Given the description of an element on the screen output the (x, y) to click on. 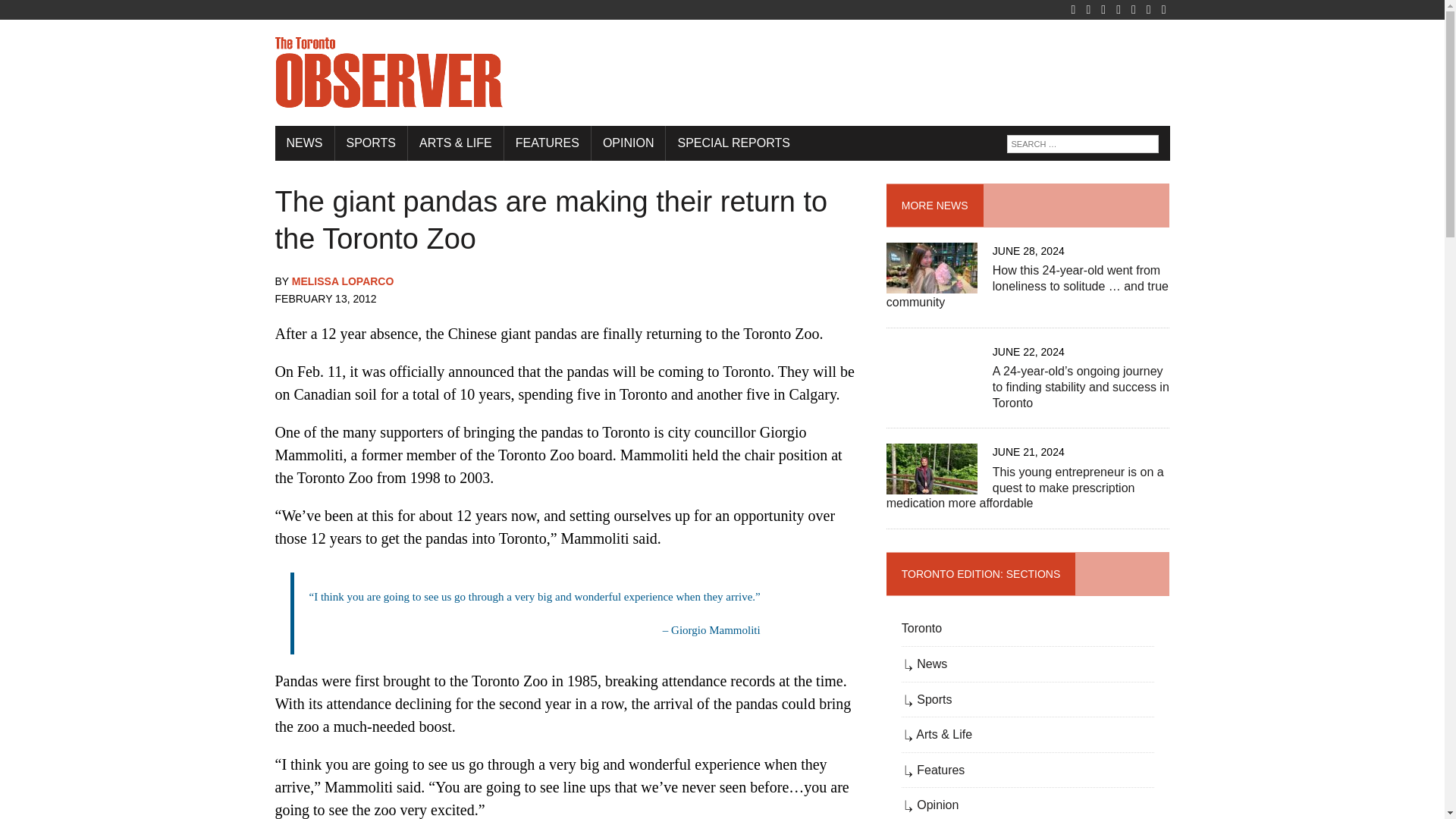
Melissa LoParco (343, 281)
The Toronto Observer (722, 72)
